Given the description of an element on the screen output the (x, y) to click on. 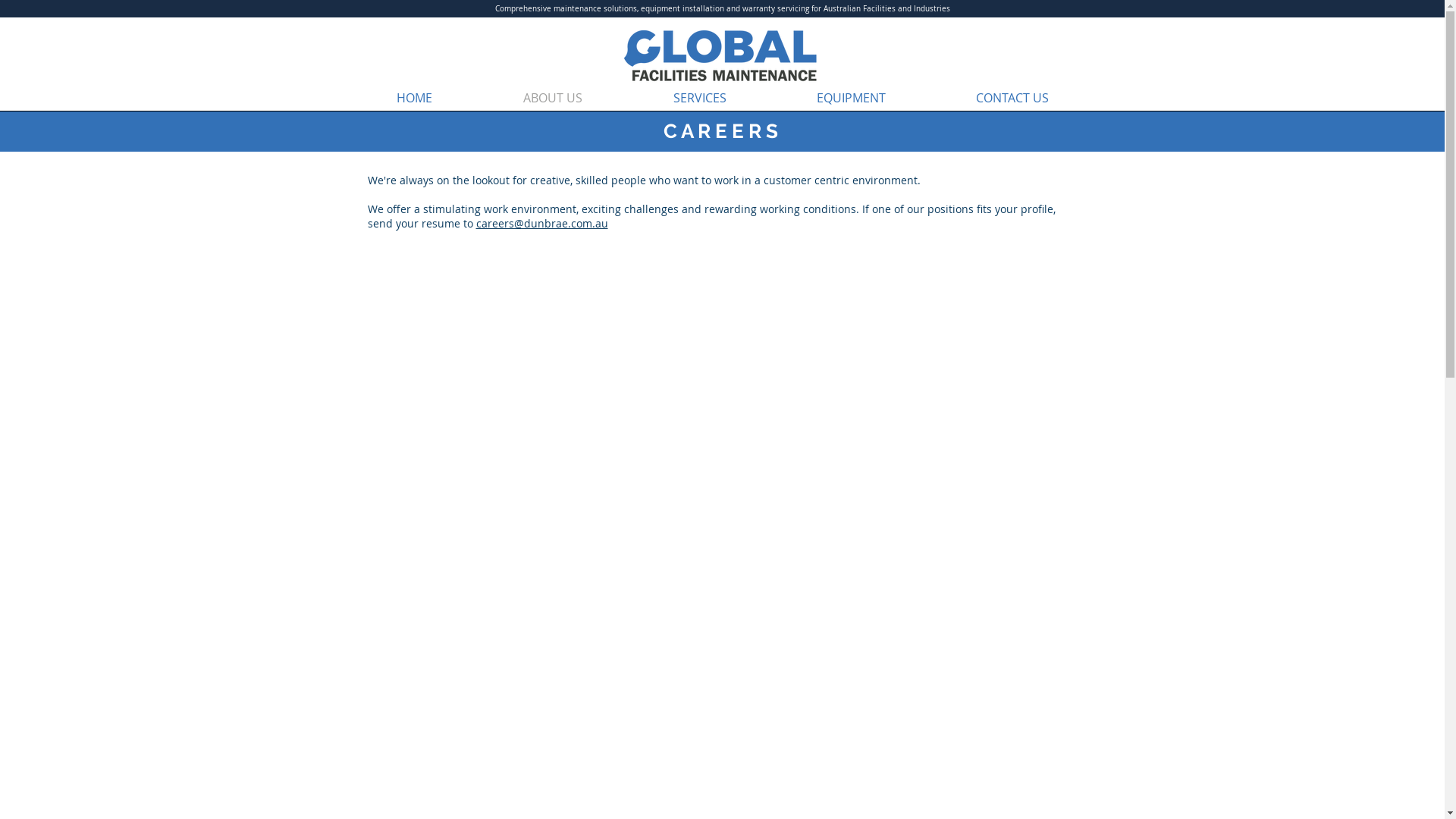
EQUIPMENT Element type: text (851, 97)
ABOUT US Element type: text (552, 97)
careers@dunbrae.com.au Element type: text (542, 223)
Wix FAQ Element type: hover (721, 442)
HOME Element type: text (413, 97)
SERVICES Element type: text (699, 97)
CONTACT US Element type: text (1012, 97)
